Given the description of an element on the screen output the (x, y) to click on. 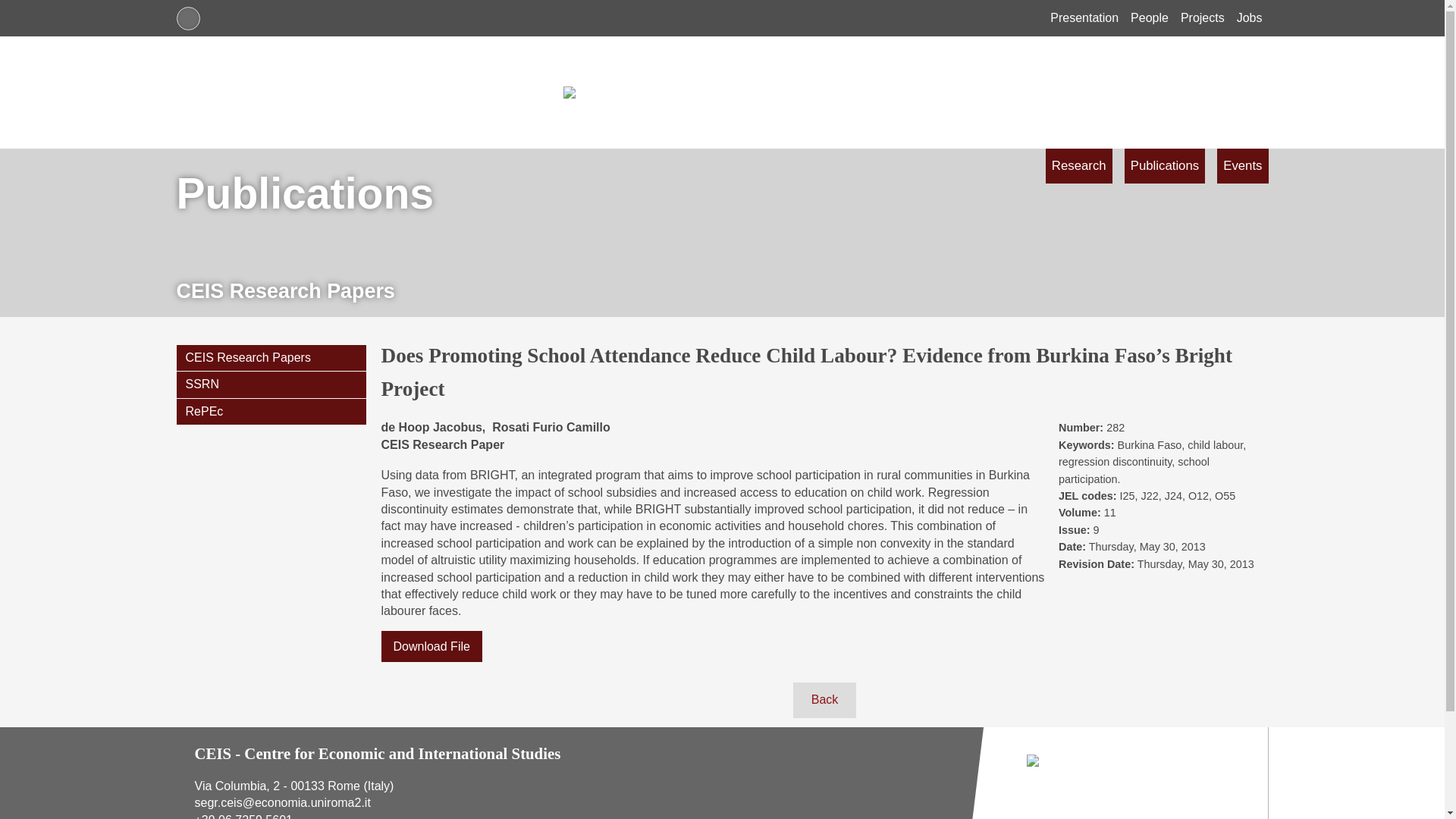
School of Economics (722, 18)
People (1149, 18)
Presentation (1083, 18)
Projects (1202, 18)
Jobs (1249, 18)
